Given the description of an element on the screen output the (x, y) to click on. 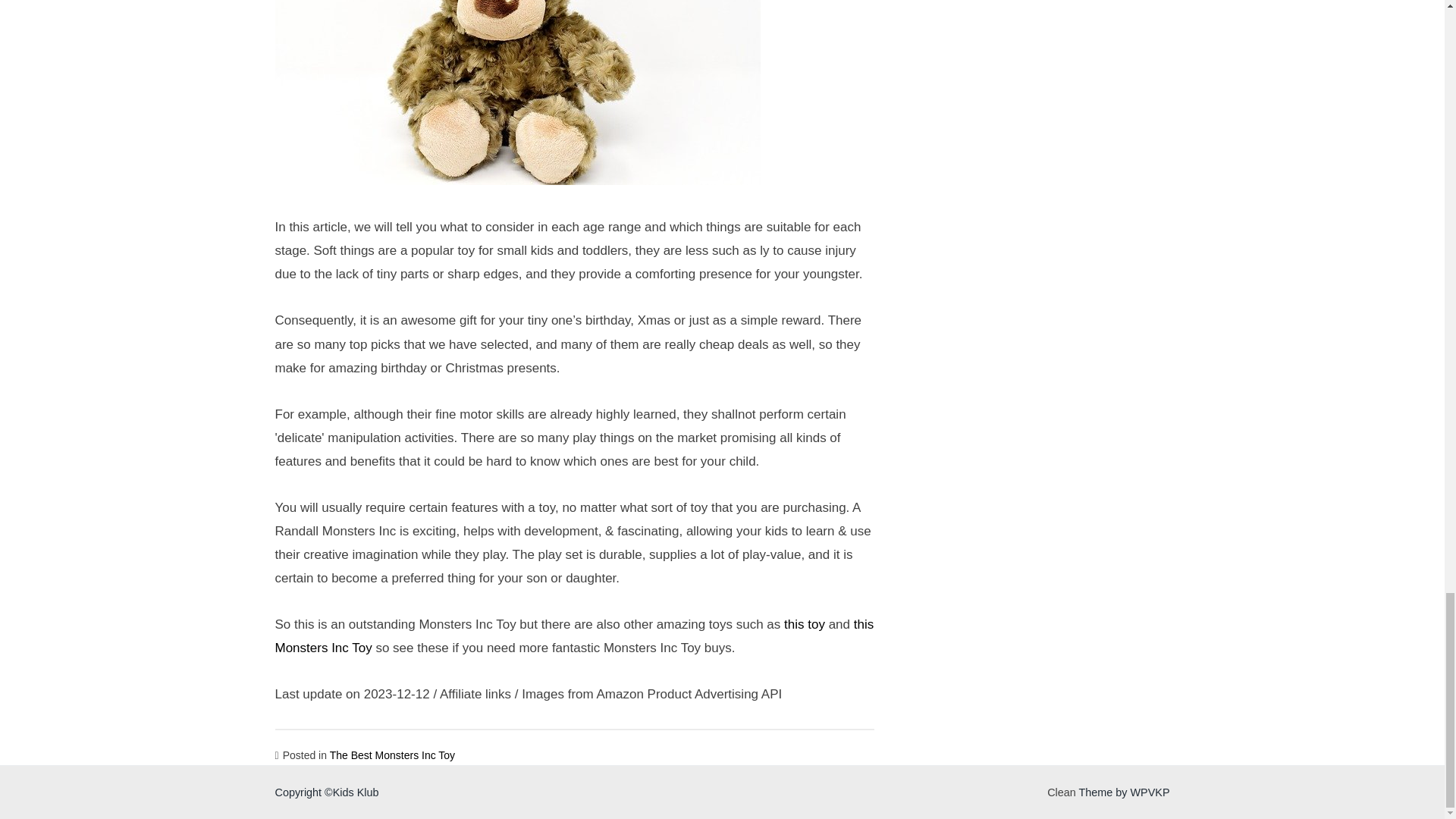
this toy (804, 624)
The Best Monsters Inc Toy (392, 755)
this Monsters Inc Toy (574, 636)
Storage For Toy (517, 92)
Clean (1060, 792)
